Given the description of an element on the screen output the (x, y) to click on. 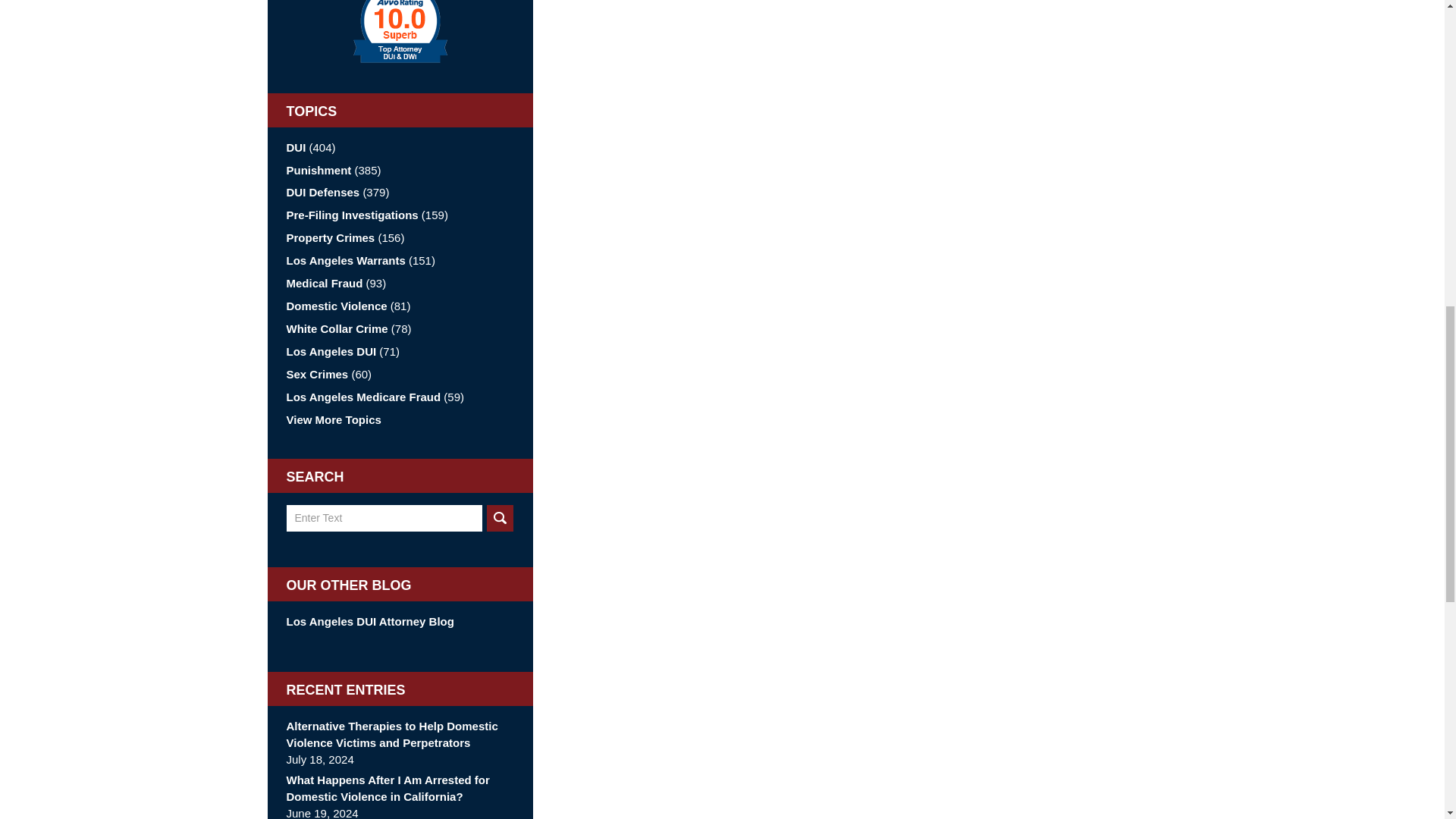
AVVO Rating (399, 31)
